Given the description of an element on the screen output the (x, y) to click on. 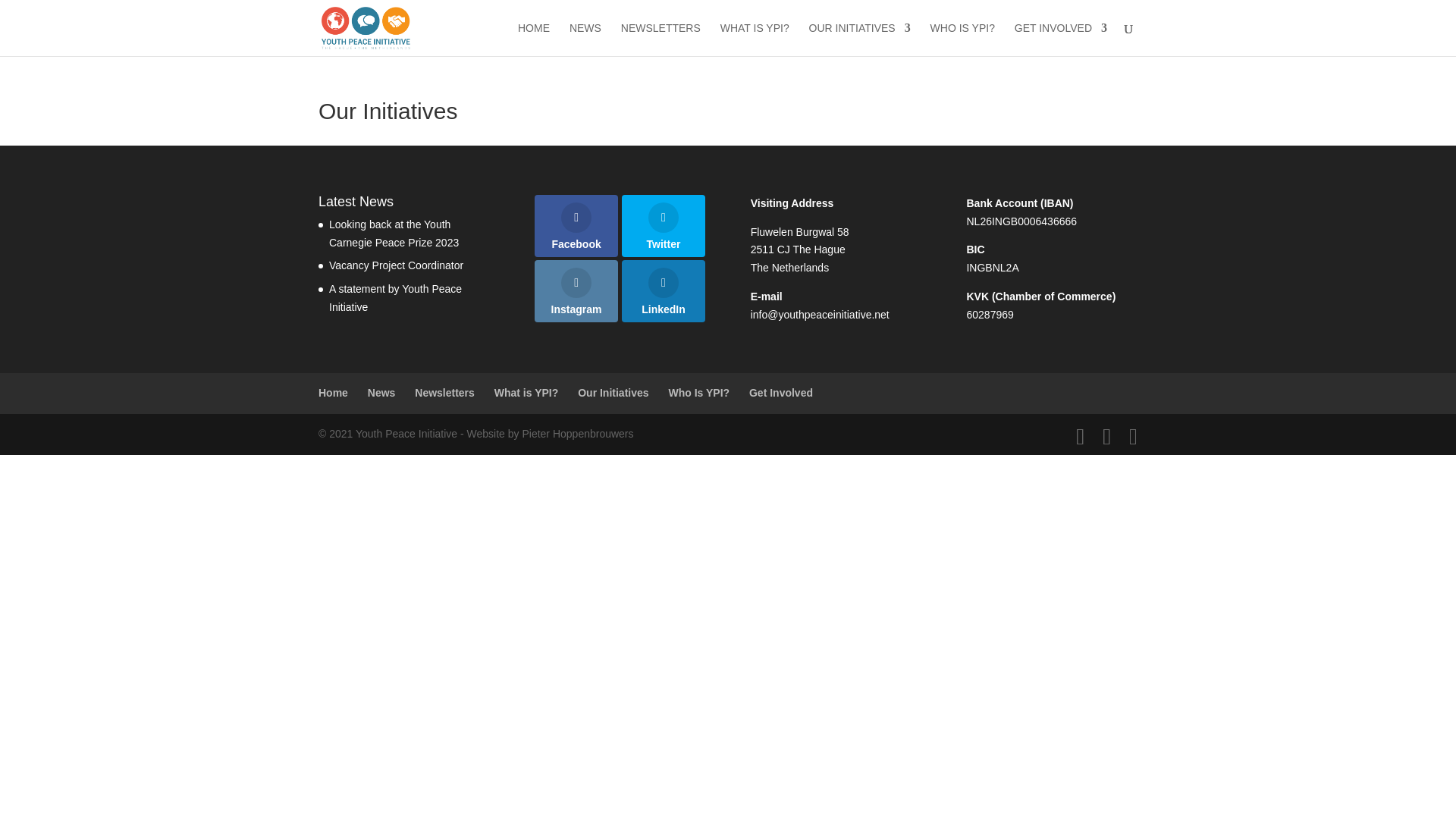
GET INVOLVED (1060, 39)
WHO IS YPI? (962, 39)
NEWSLETTERS (660, 39)
NEWS (585, 39)
WHAT IS YPI? (754, 39)
OUR INITIATIVES (860, 39)
HOME (534, 39)
